Given the description of an element on the screen output the (x, y) to click on. 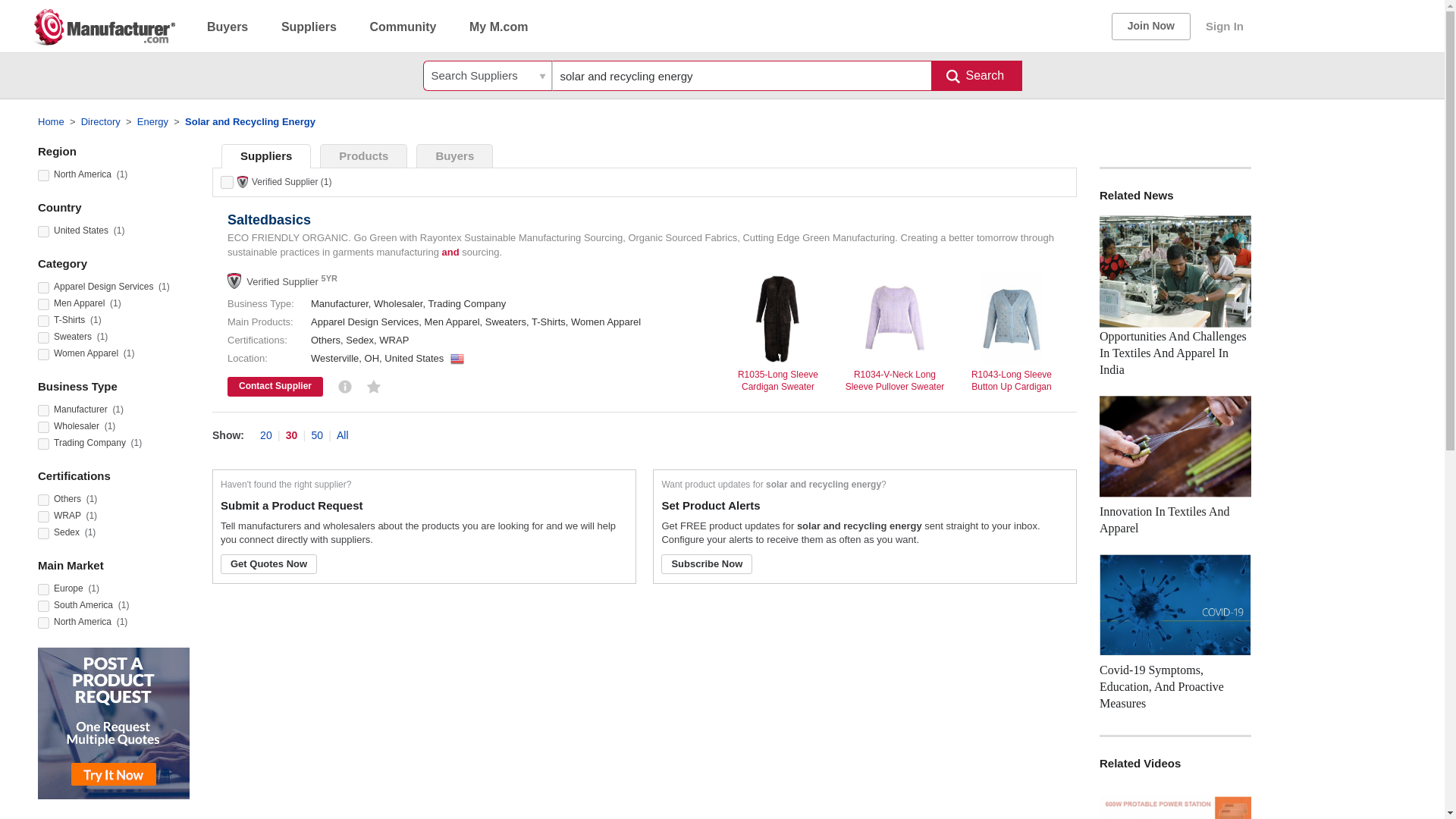
Energy (152, 121)
1 (43, 500)
1 (43, 589)
1 (43, 532)
1 (43, 622)
1 (43, 304)
1 (43, 354)
Search (976, 75)
Saltedbasics (269, 219)
Products (363, 155)
